Given the description of an element on the screen output the (x, y) to click on. 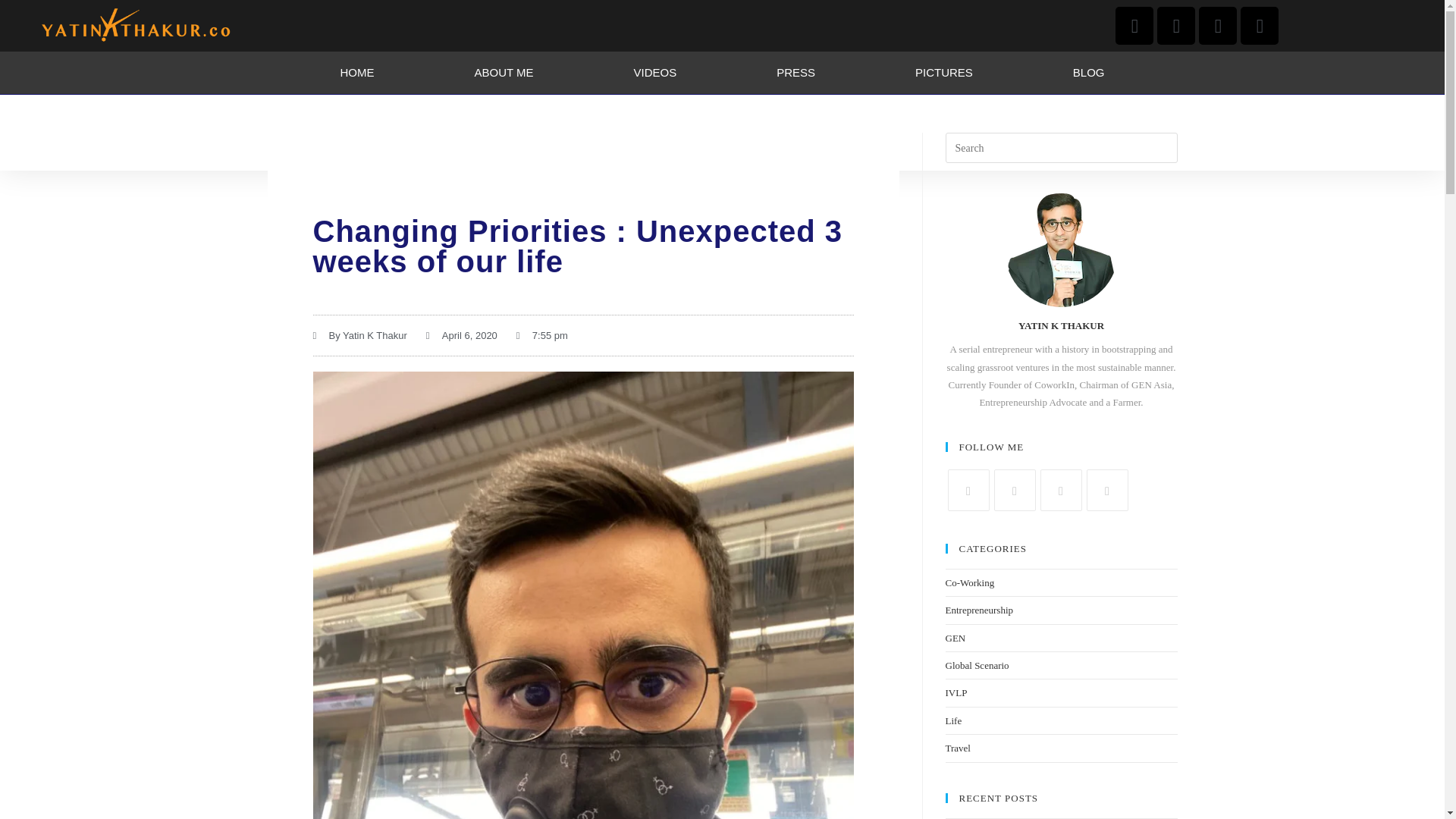
PICTURES (943, 72)
By Yatin K Thakur (359, 334)
Twitter (968, 490)
HOME (356, 72)
BLOG (1088, 72)
April 6, 2020 (461, 334)
Youtube (1106, 490)
Facebook (1013, 490)
VIDEOS (654, 72)
ABOUT ME (503, 72)
Instagram (1061, 490)
PRESS (795, 72)
